Given the description of an element on the screen output the (x, y) to click on. 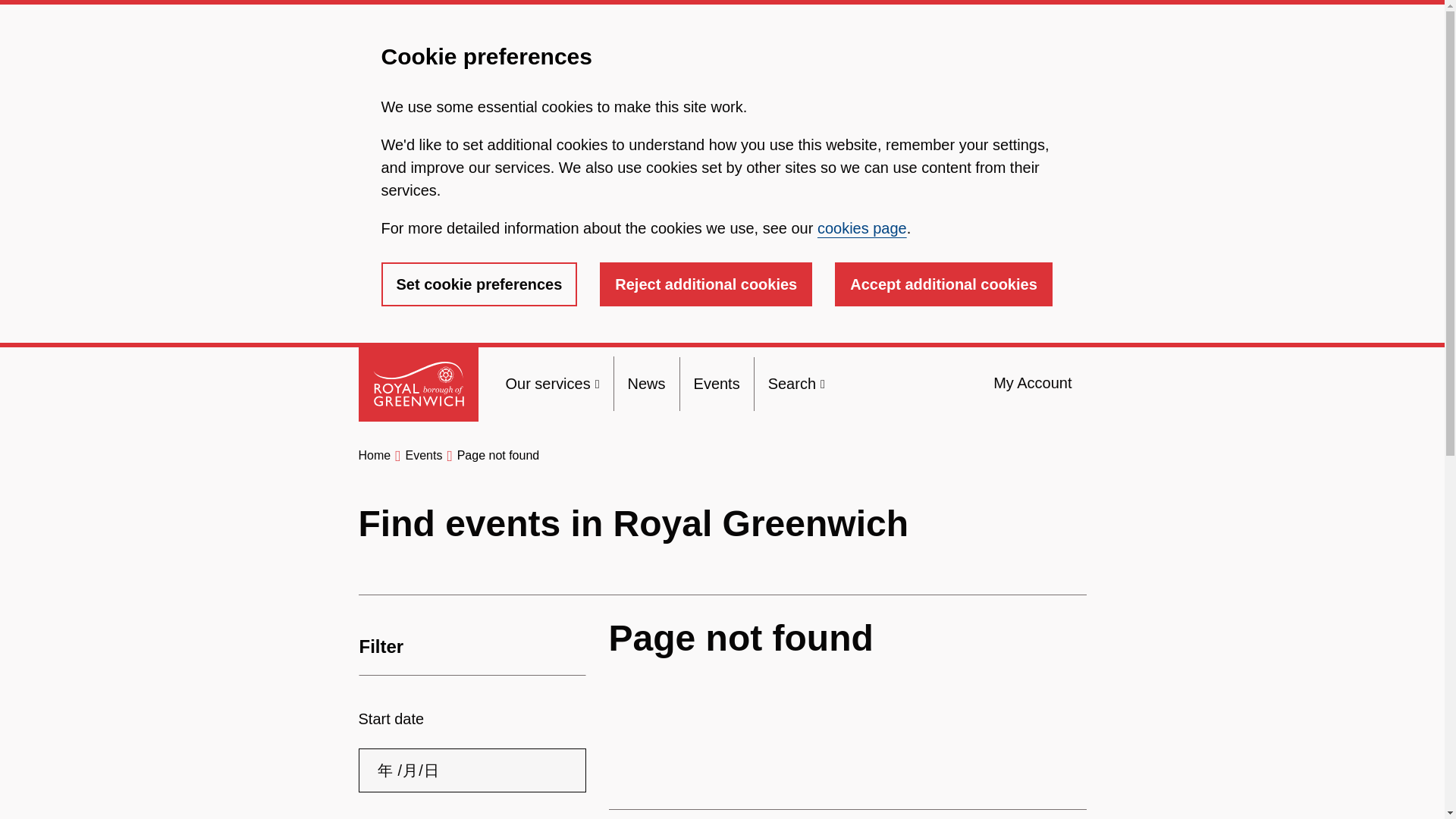
Royal Borough of Greenwich (417, 384)
Events (716, 384)
My Account (1031, 383)
cookies page (861, 228)
News (646, 384)
Filter (471, 646)
Search (796, 383)
Set cookie preferences (478, 284)
Reject additional cookies (705, 284)
Events (423, 455)
Our services (551, 383)
Home (374, 455)
